Given the description of an element on the screen output the (x, y) to click on. 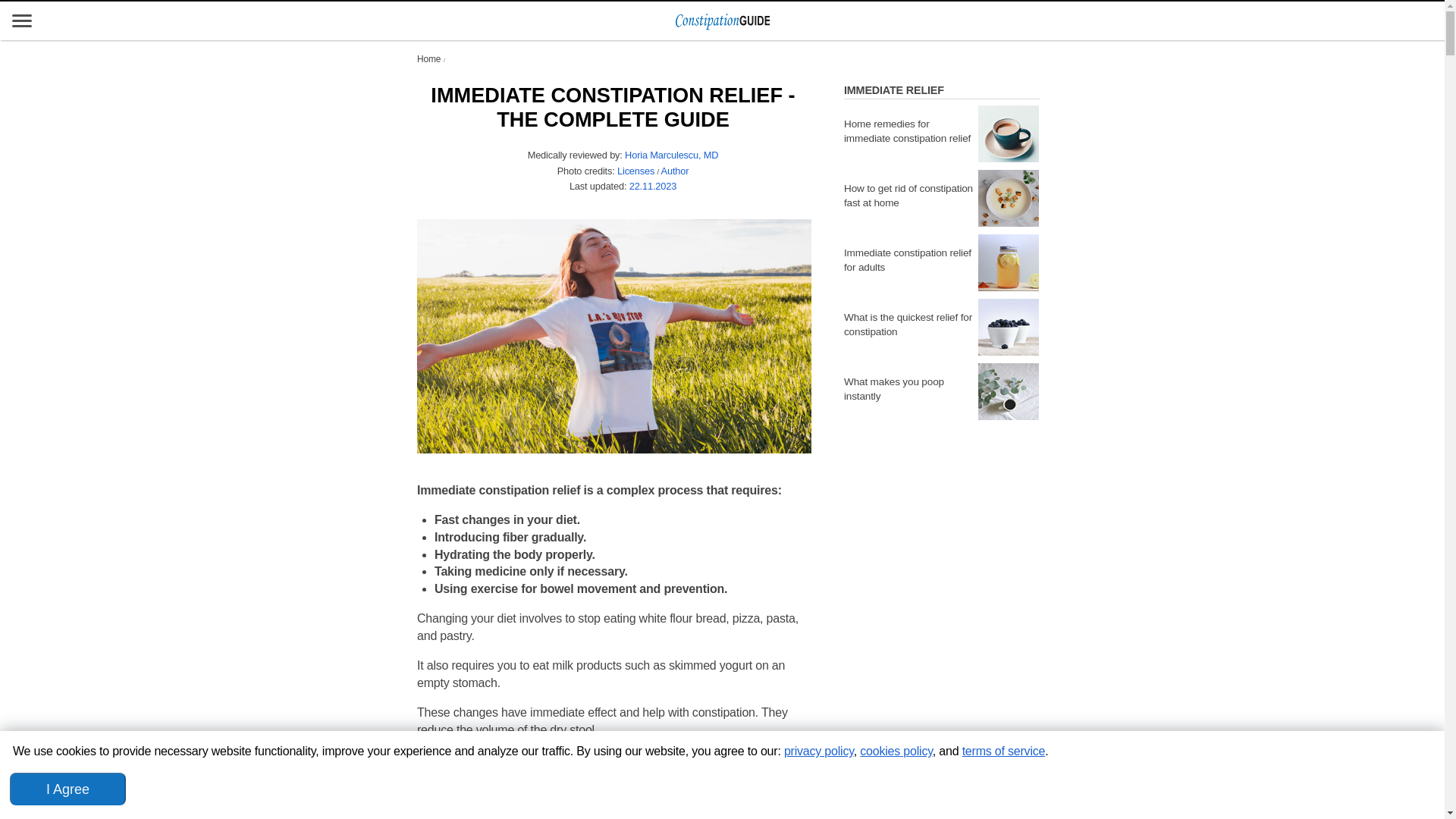
Licenses (635, 170)
Home (428, 59)
22.11.2023 (652, 185)
Horia Marculescu, MD (670, 154)
Author (674, 170)
